Given the description of an element on the screen output the (x, y) to click on. 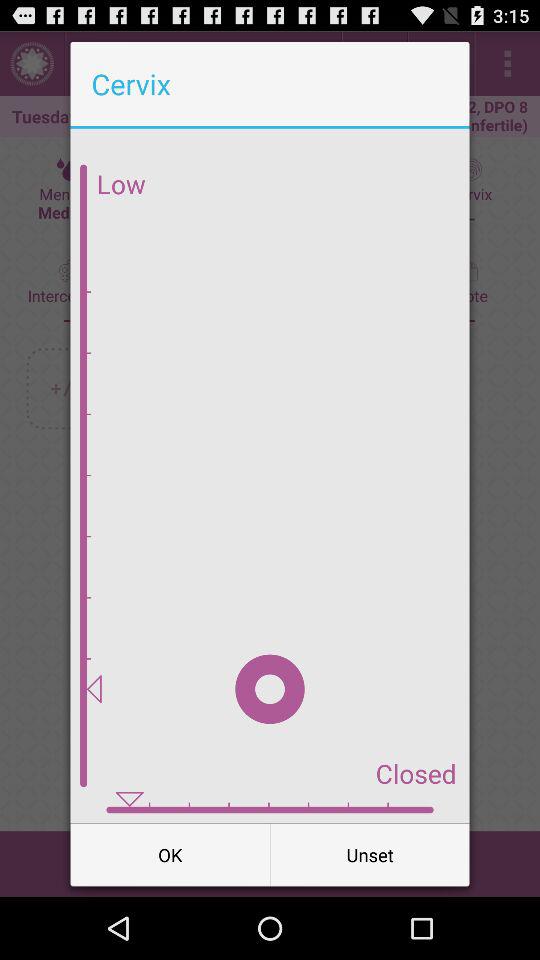
turn on icon next to the ok icon (369, 854)
